Given the description of an element on the screen output the (x, y) to click on. 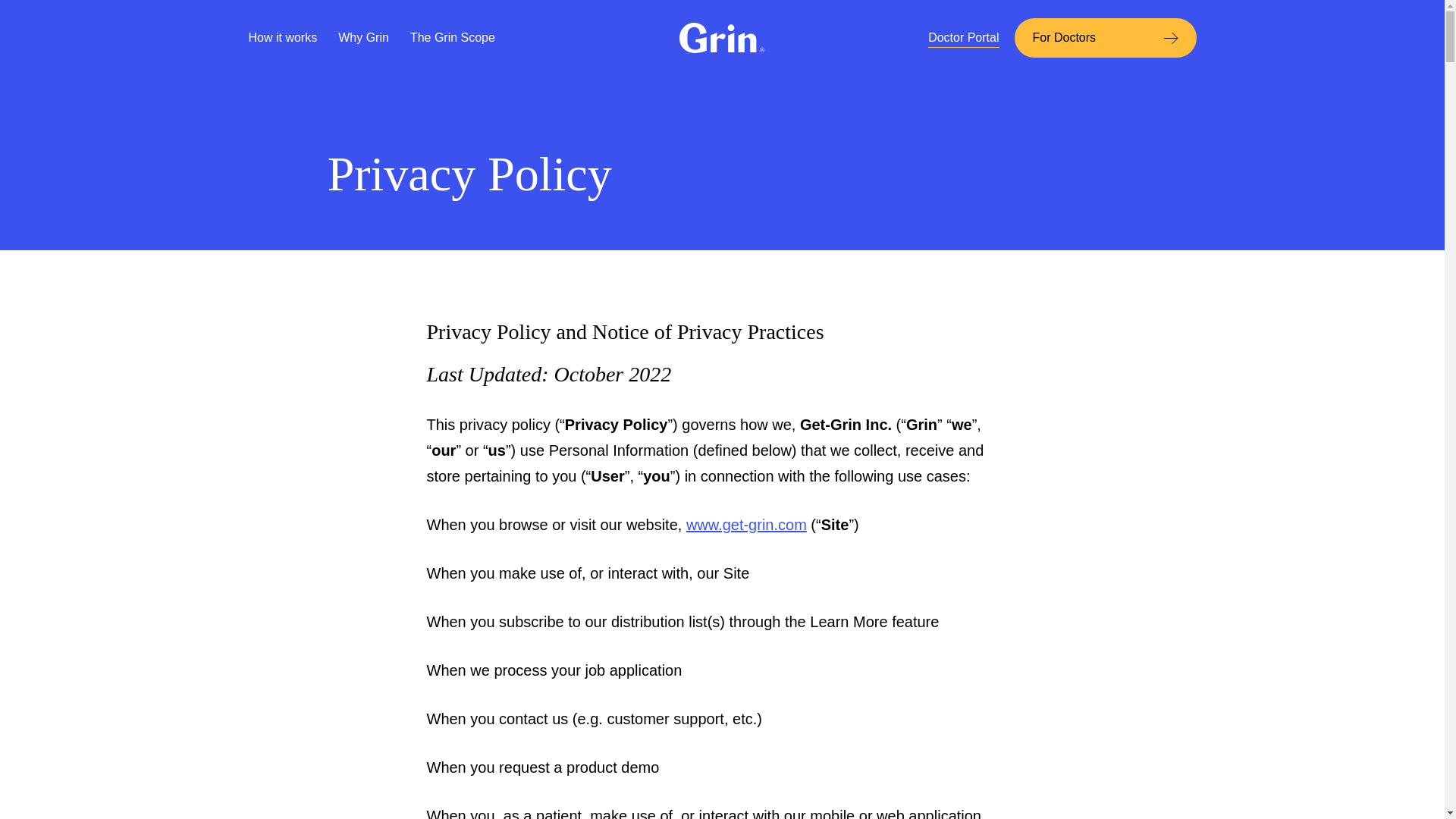
Why Grin (362, 37)
www.get-grin.com (745, 524)
Doctor Portal (963, 37)
How it works (282, 37)
The Grin Scope (452, 37)
For Doctors (1105, 37)
